Given the description of an element on the screen output the (x, y) to click on. 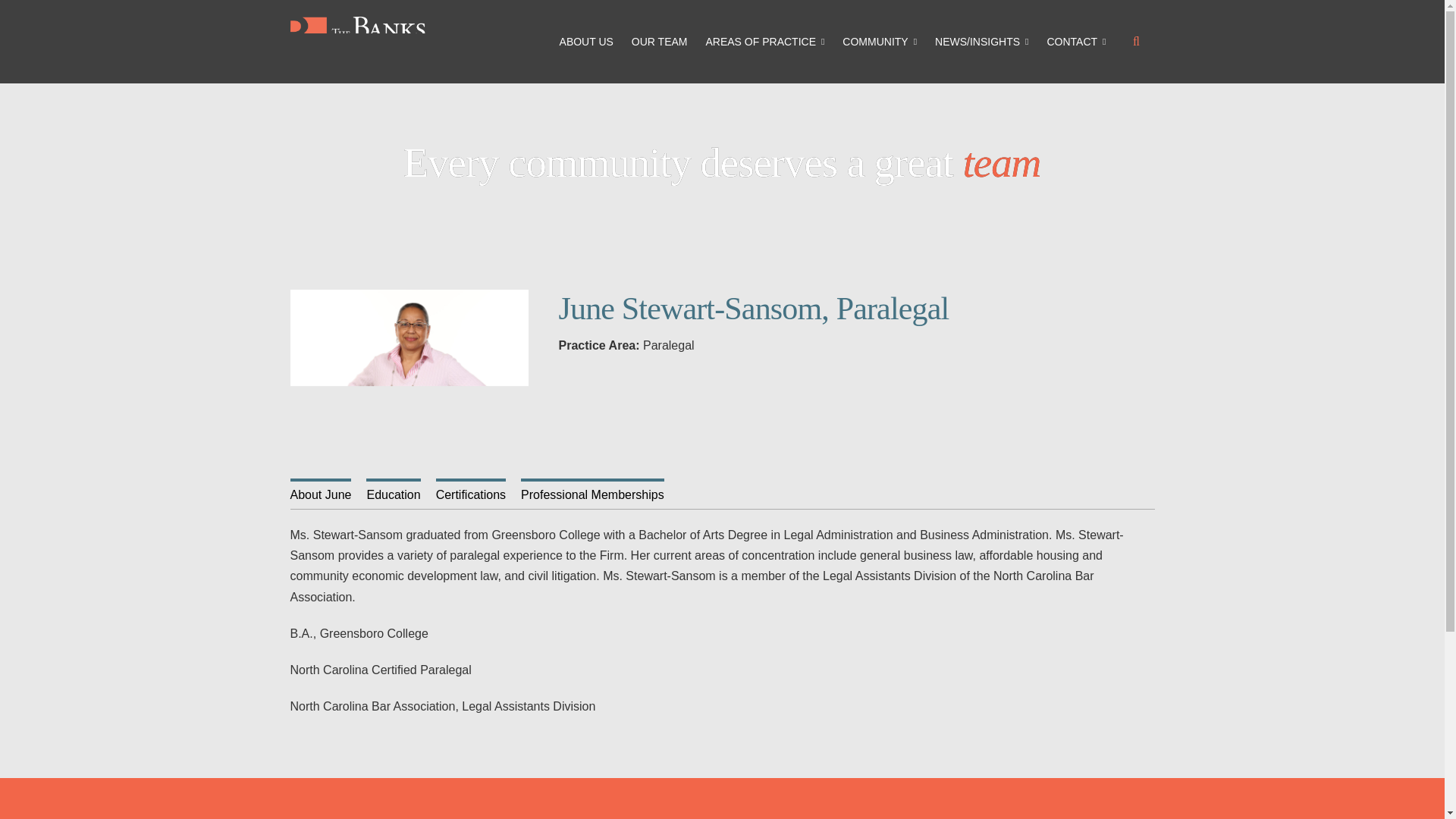
OUR TEAM (663, 41)
COMMUNITY (881, 41)
AREAS OF PRACTICE (766, 41)
CONTACT (1079, 41)
ABOUT US (589, 41)
